Given the description of an element on the screen output the (x, y) to click on. 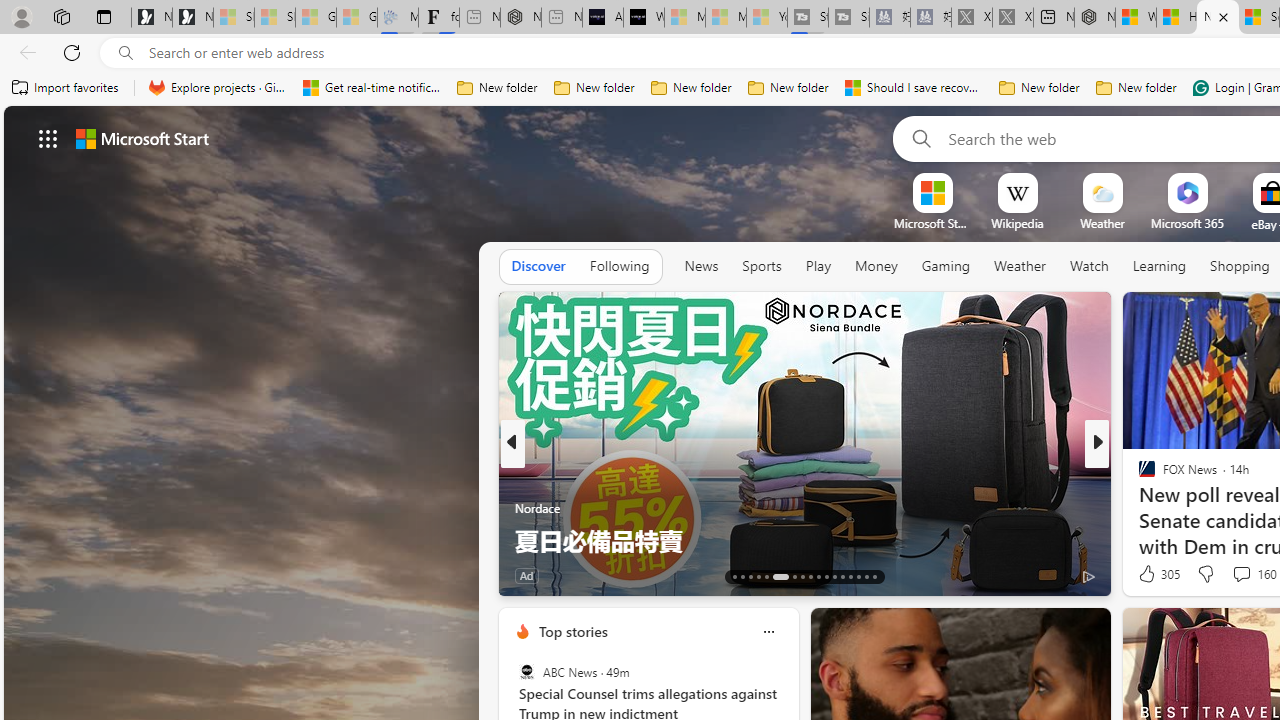
Reuters (1138, 475)
View comments 5 Comment (1229, 575)
Microsoft Start - Sleeping (726, 17)
View comments 107 Comment (1247, 574)
View comments 26 Comment (1237, 574)
Should I save recovered Word documents? - Microsoft Support (913, 88)
AutomationID: tab-17 (765, 576)
AutomationID: tab-19 (793, 576)
Like (1140, 574)
Gaming (945, 267)
Learning (1159, 265)
Huge shark washes ashore at New York City beach | Watch (1176, 17)
AutomationID: tab-13 (733, 576)
